Given the description of an element on the screen output the (x, y) to click on. 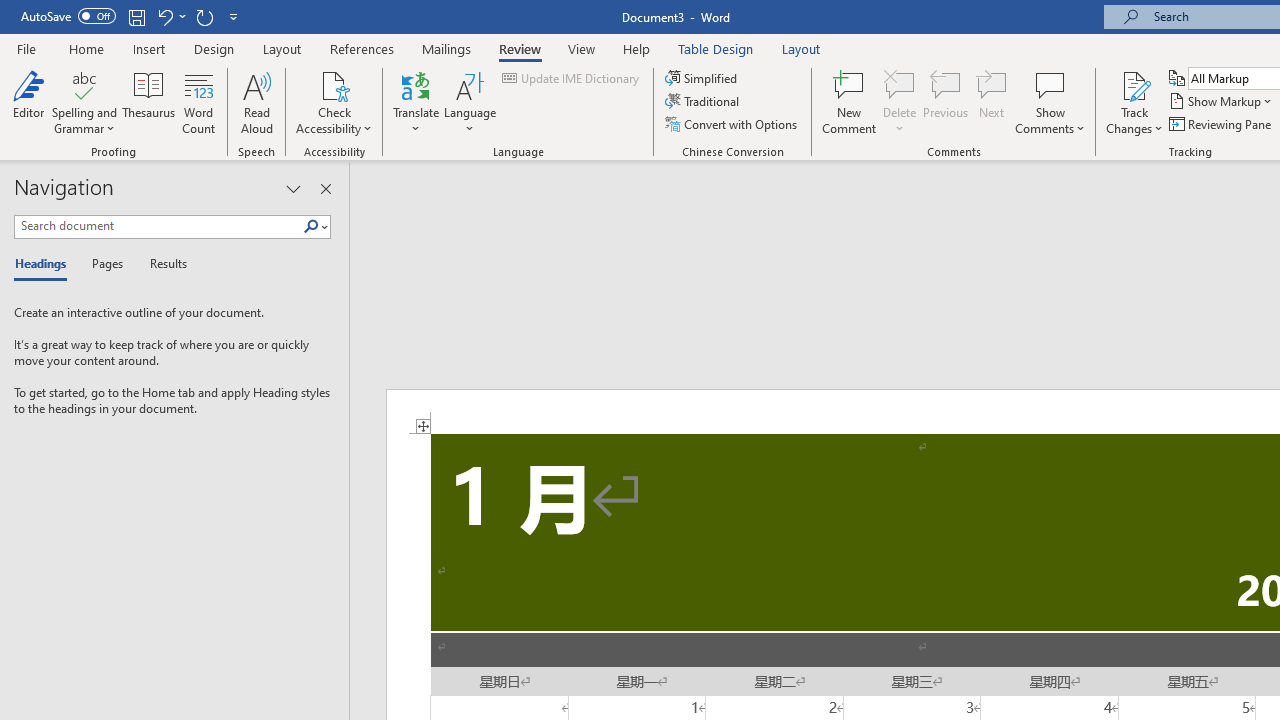
Check Accessibility (334, 102)
Translate (415, 102)
Show Markup (1222, 101)
Simplified (702, 78)
Check Accessibility (334, 84)
Delete (900, 84)
New Comment (849, 102)
Track Changes (1134, 84)
